Given the description of an element on the screen output the (x, y) to click on. 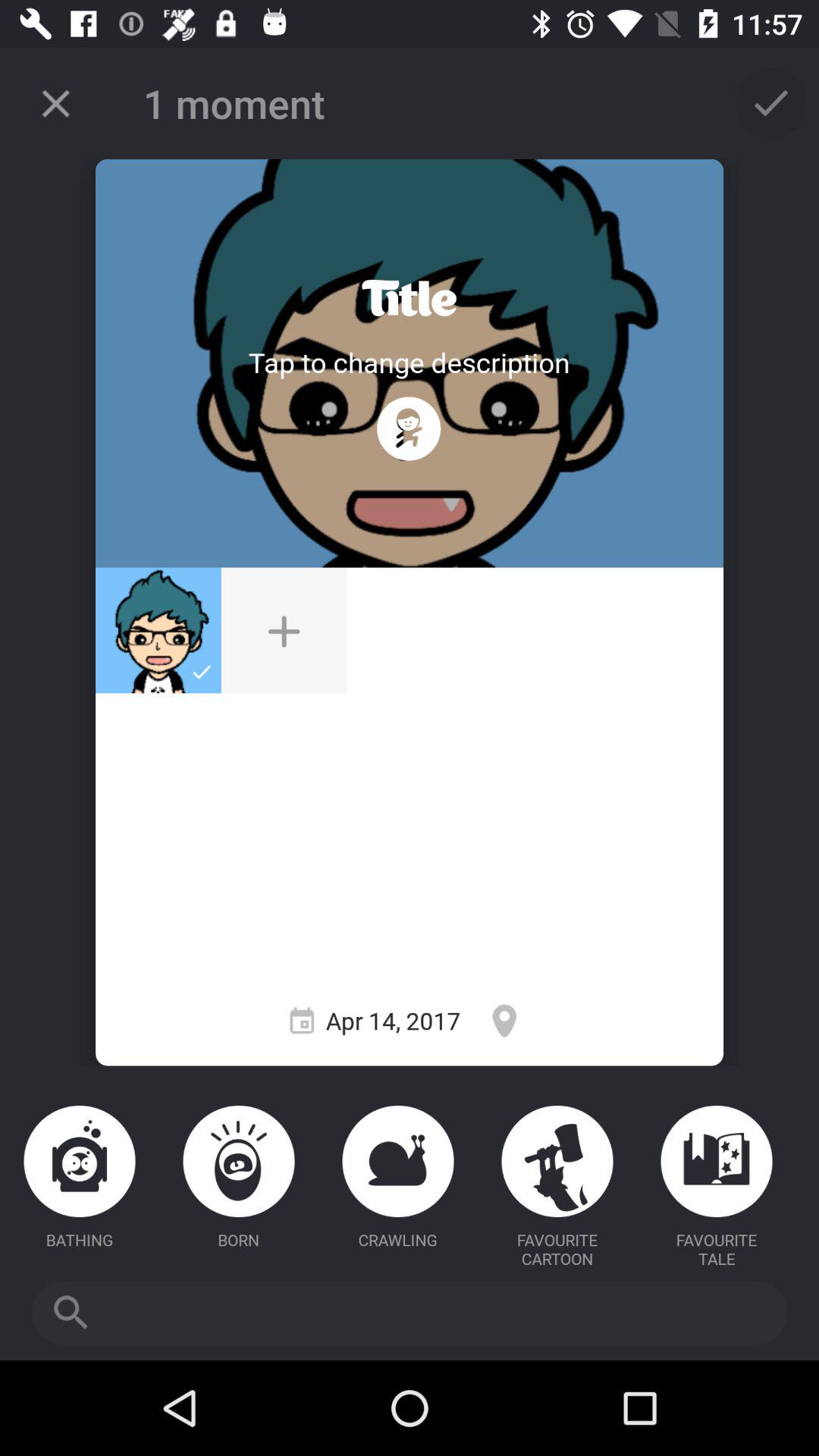
open the item at the center (283, 630)
